Given the description of an element on the screen output the (x, y) to click on. 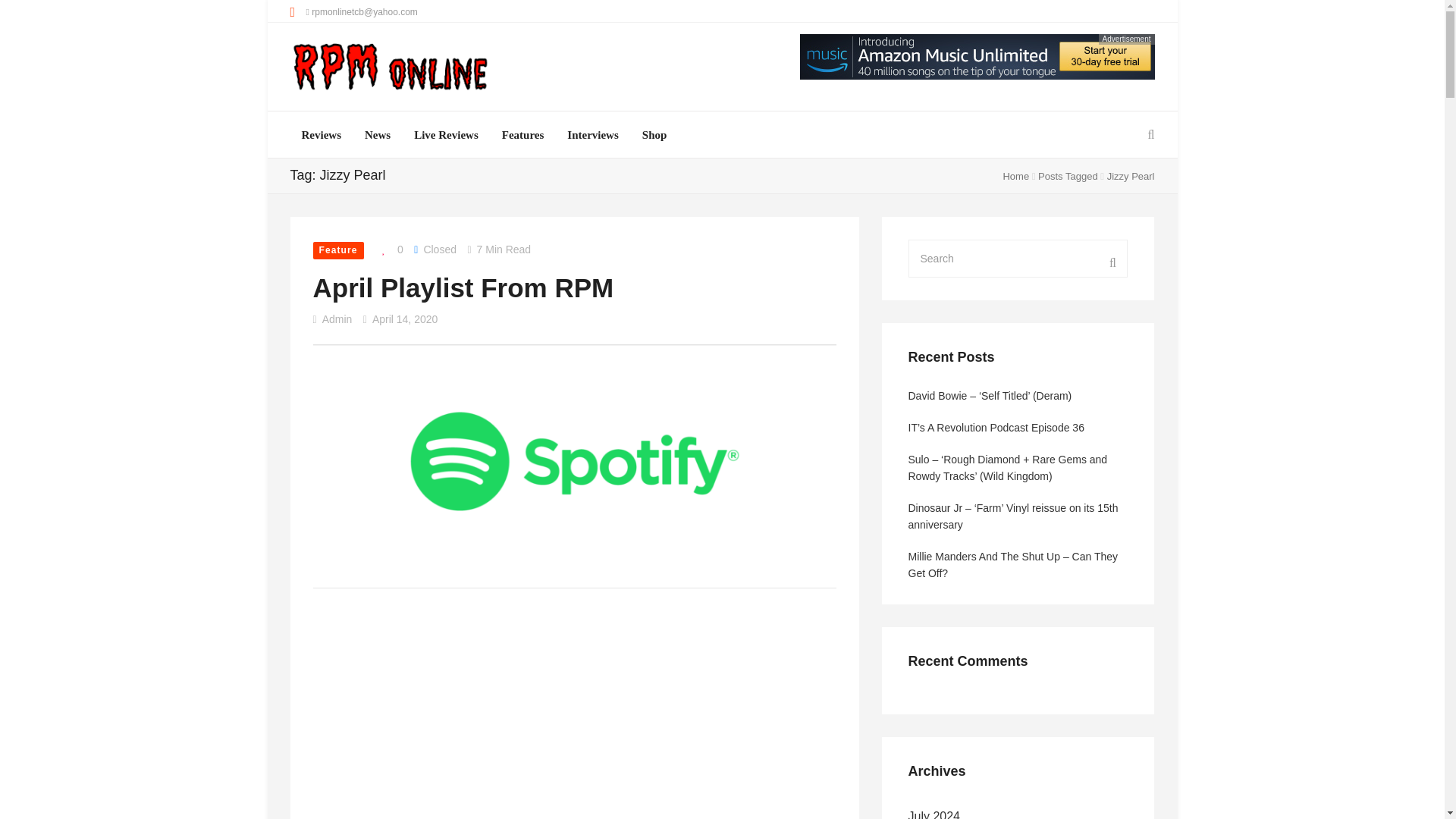
Like this (388, 249)
Live Reviews (446, 135)
RPM Online (389, 68)
Interviews (592, 135)
Live Reviews (446, 135)
Spotify Embed: RPM Online April Playlist (426, 730)
Features (523, 135)
